Given the description of an element on the screen output the (x, y) to click on. 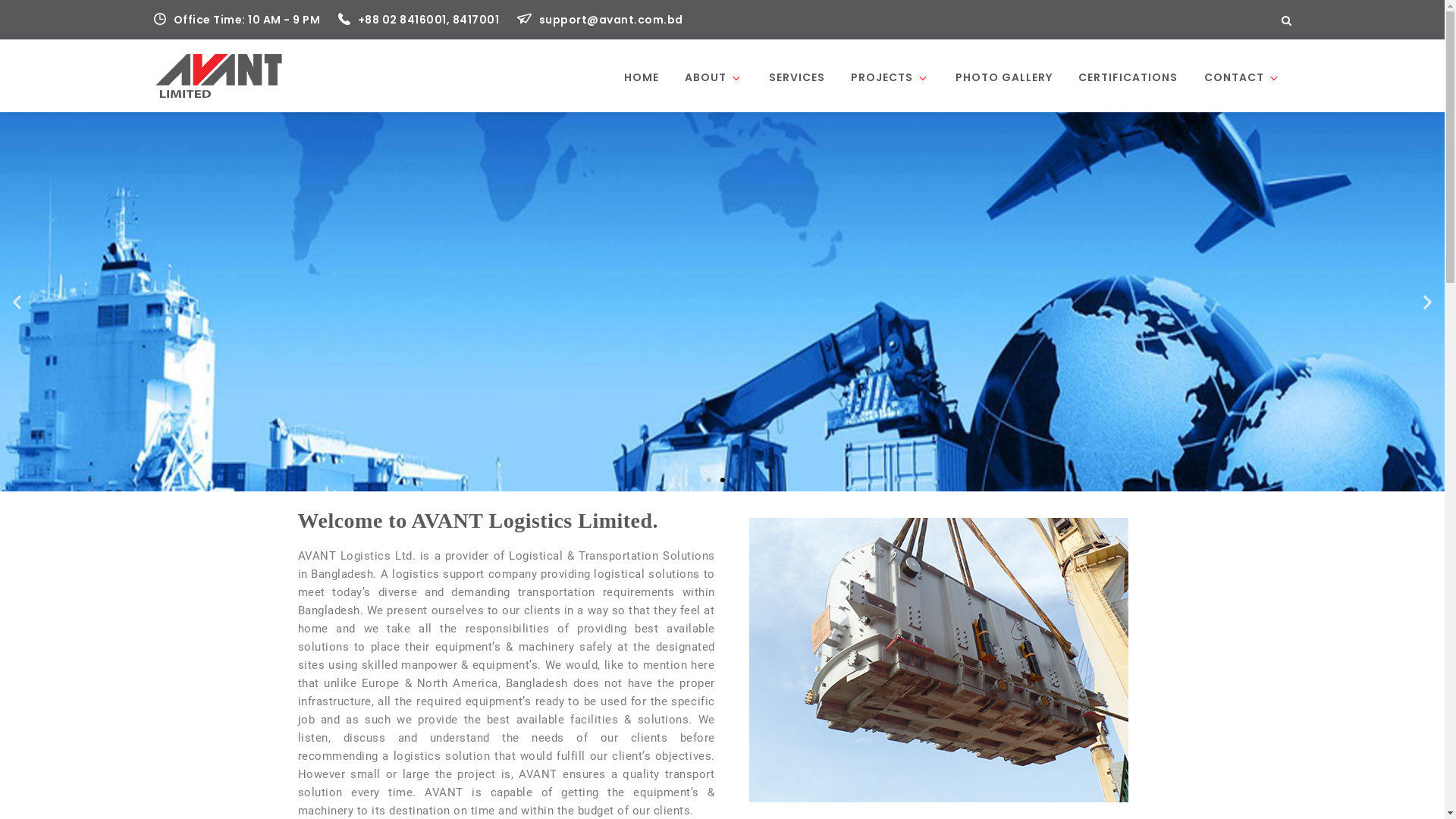
PROJECTS Element type: text (889, 77)
HOME Element type: text (641, 77)
CERTIFICATIONS Element type: text (1127, 77)
ABOUT Element type: text (713, 77)
+88 02 8416001, 8417001 Element type: text (420, 19)
CONTACT Element type: text (1241, 77)
PHOTO GALLERY Element type: text (1003, 77)
Avant Logistics Limited Element type: text (431, 86)
SERVICES Element type: text (795, 77)
support@avant.com.bd Element type: text (600, 19)
